Given the description of an element on the screen output the (x, y) to click on. 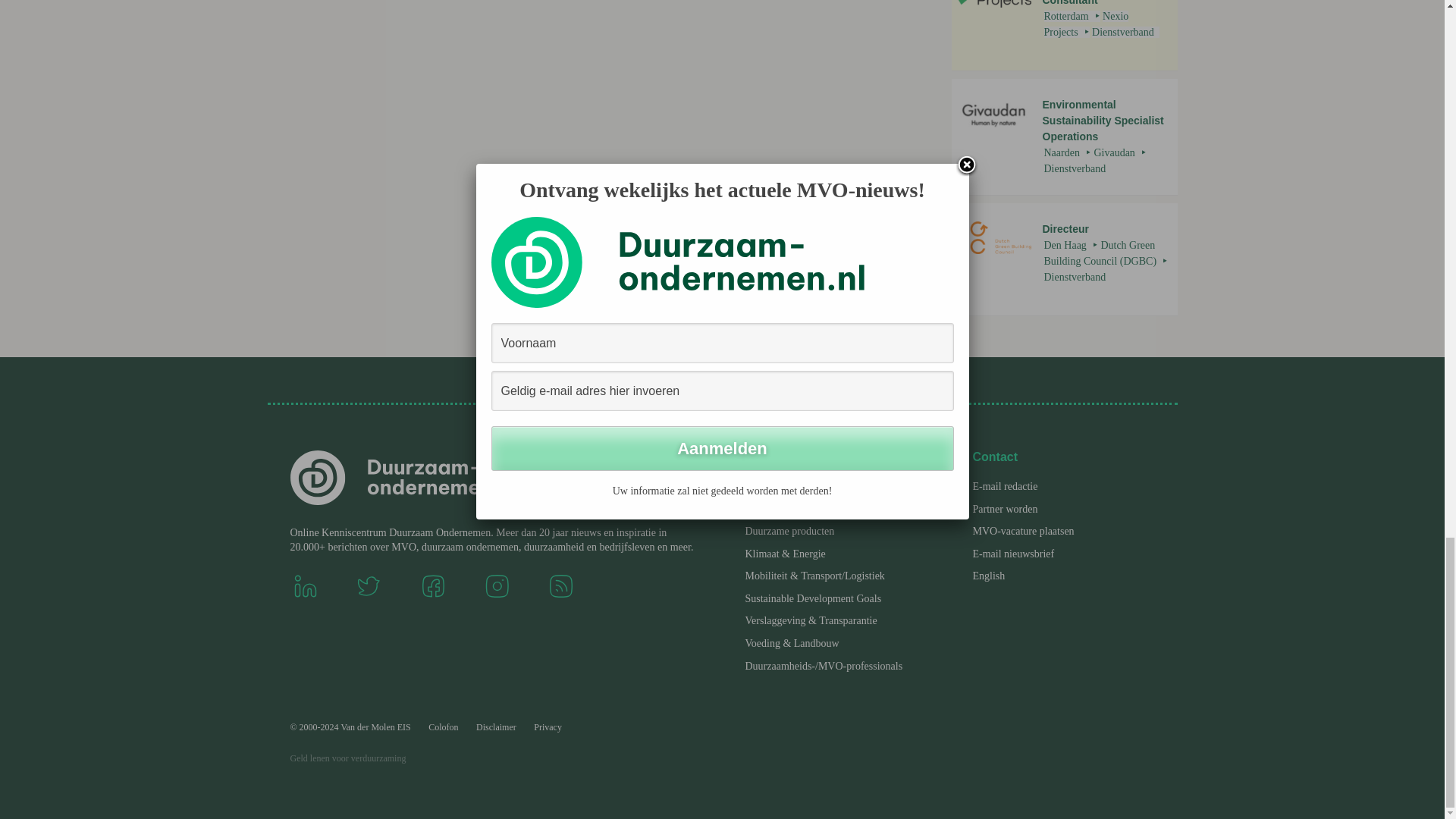
E-mail (1004, 486)
Nieuwsbrief (1013, 553)
Disclaimer (1023, 531)
Disclaimer (496, 727)
Colofon (443, 727)
